Given the description of an element on the screen output the (x, y) to click on. 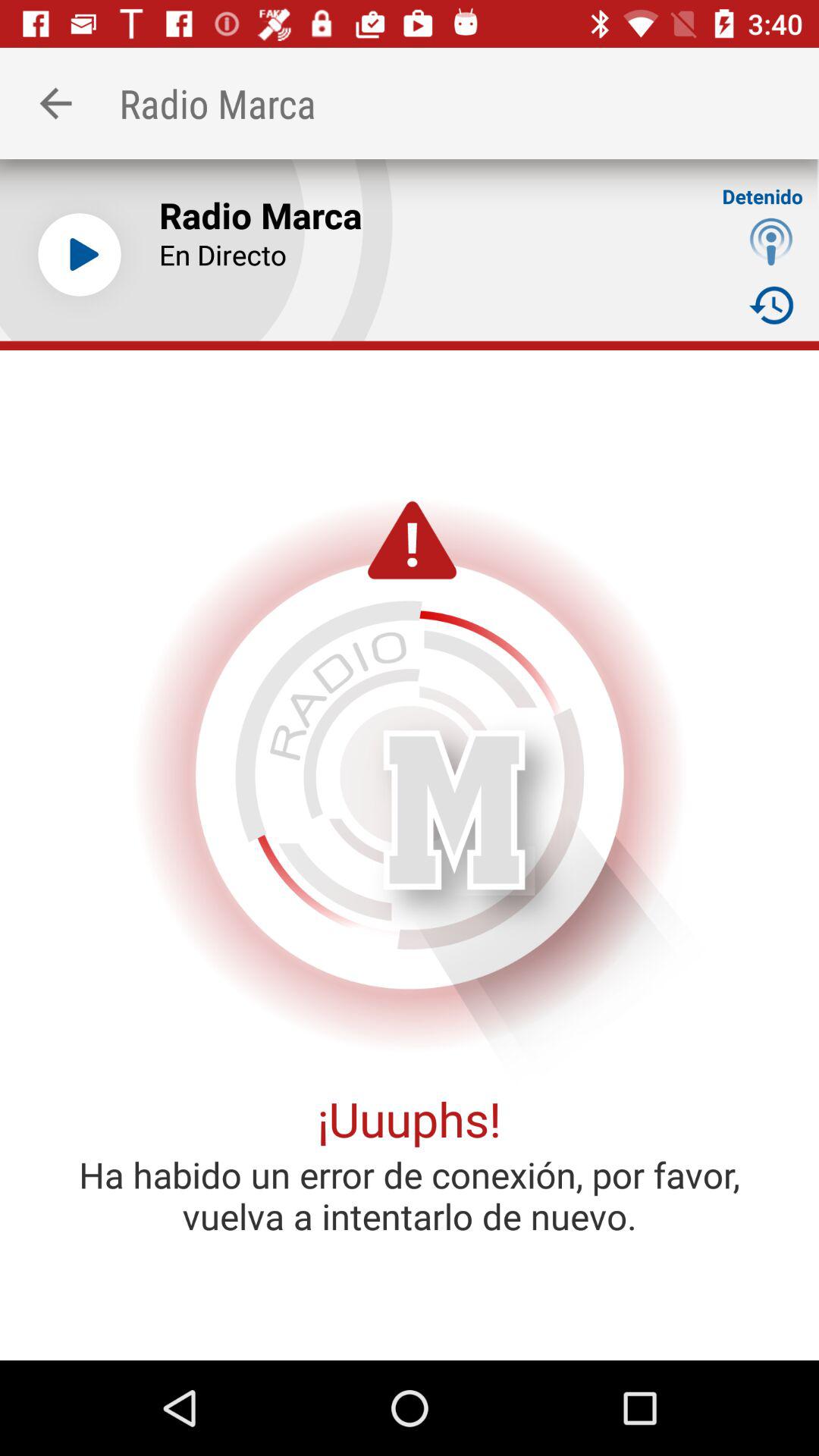
start audio playback (79, 254)
